Given the description of an element on the screen output the (x, y) to click on. 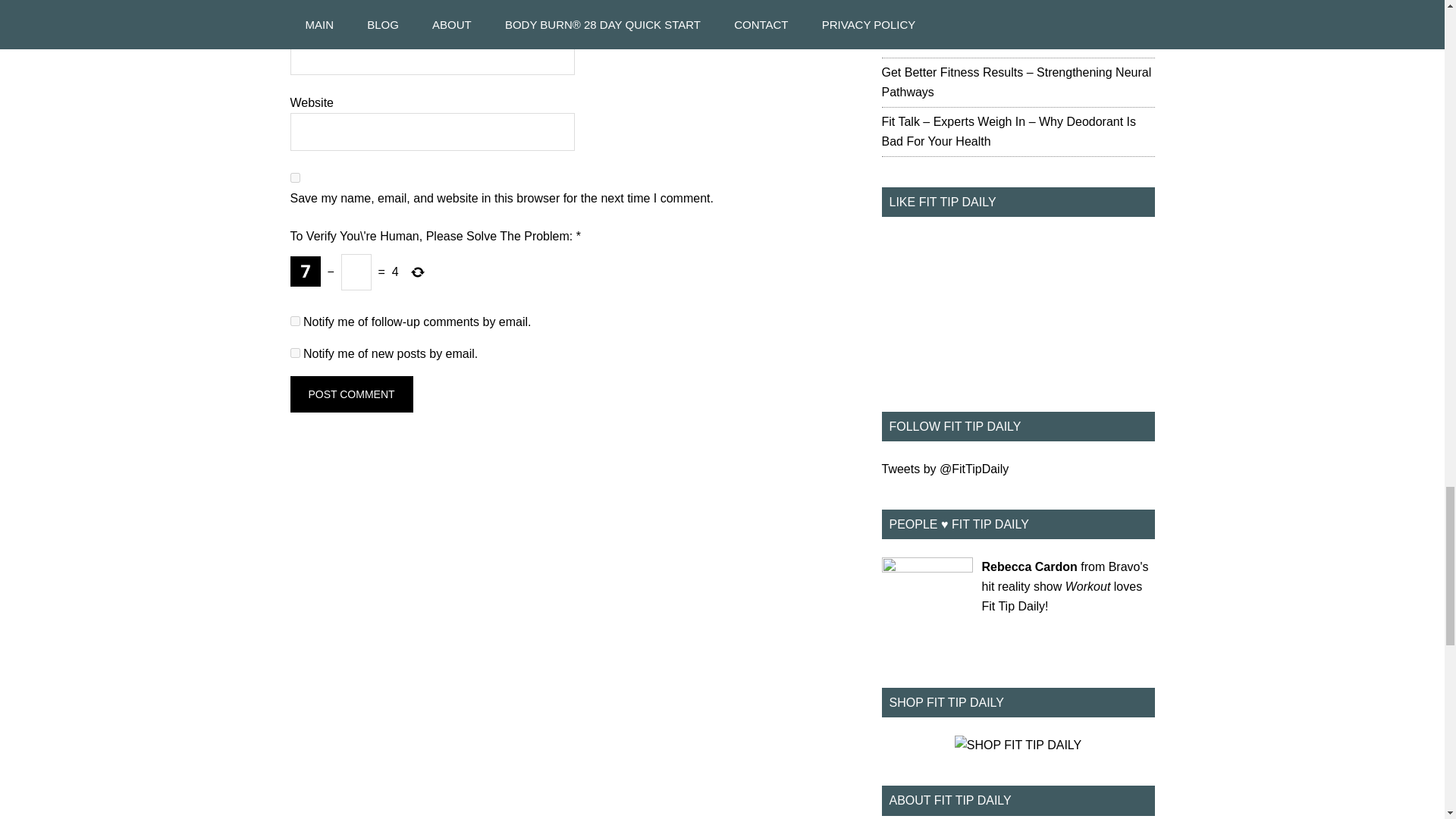
subscribe (294, 352)
subscribe (294, 320)
Post Comment (350, 393)
yes (294, 177)
